Given the description of an element on the screen output the (x, y) to click on. 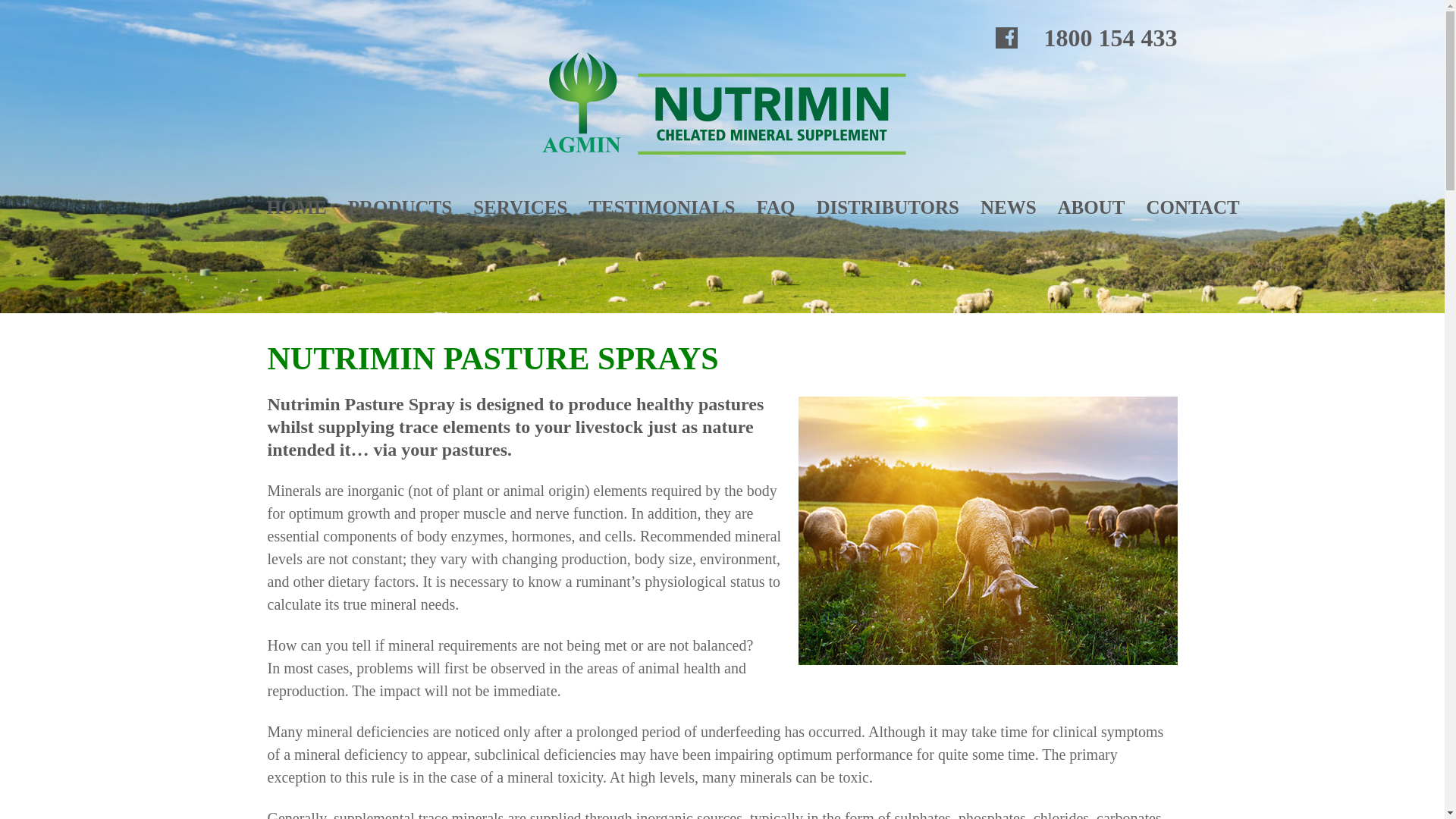
PRODUCTS Element type: text (400, 207)
DISTRIBUTORS Element type: text (887, 207)
1800 154 433 Element type: text (1109, 37)
ABOUT Element type: text (1091, 207)
HOME Element type: text (296, 207)
SERVICES Element type: text (520, 207)
TESTIMONIALS Element type: text (661, 207)
CONTACT Element type: text (1192, 207)
FAQ Element type: text (775, 207)
NEWS Element type: text (1008, 207)
